Given the description of an element on the screen output the (x, y) to click on. 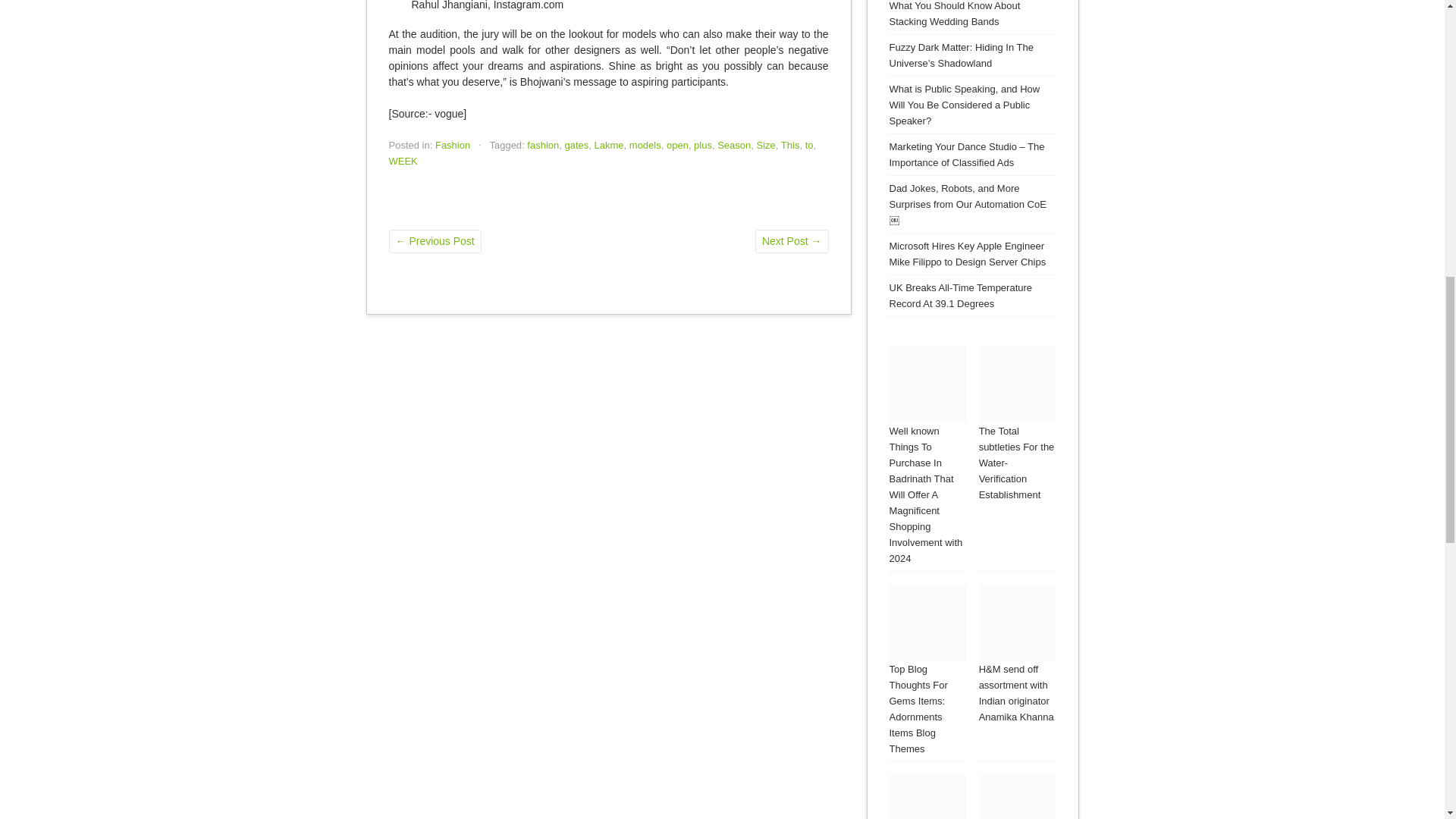
Season (734, 144)
gates (576, 144)
open (677, 144)
Fashion (452, 144)
Lakme (609, 144)
WEEK (402, 161)
Size (766, 144)
models (644, 144)
This (789, 144)
plus (702, 144)
